Given the description of an element on the screen output the (x, y) to click on. 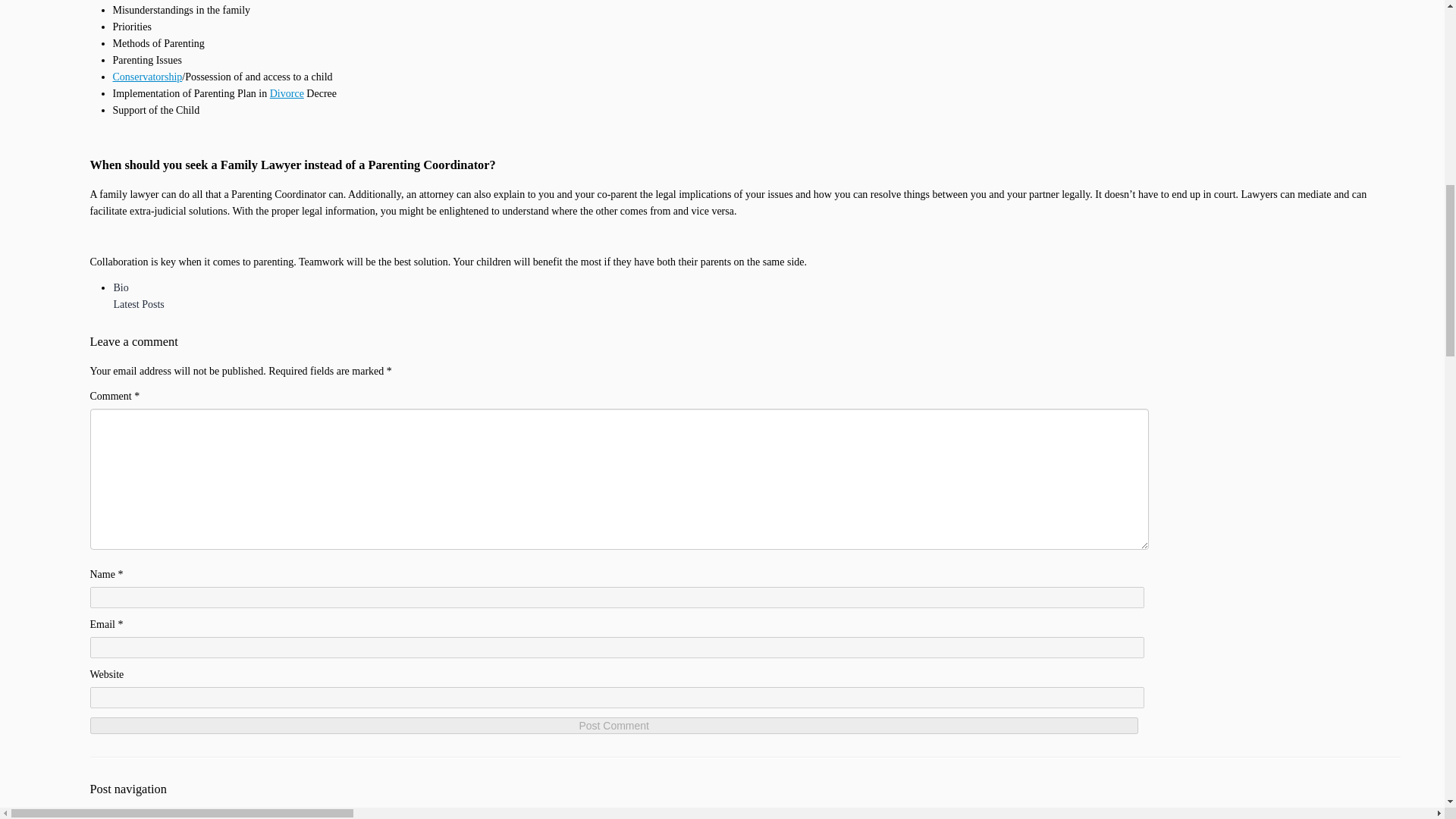
Divorce (286, 93)
Bio (120, 287)
Post Comment (612, 725)
Latest Posts (138, 304)
Conservatorship (147, 76)
